Given the description of an element on the screen output the (x, y) to click on. 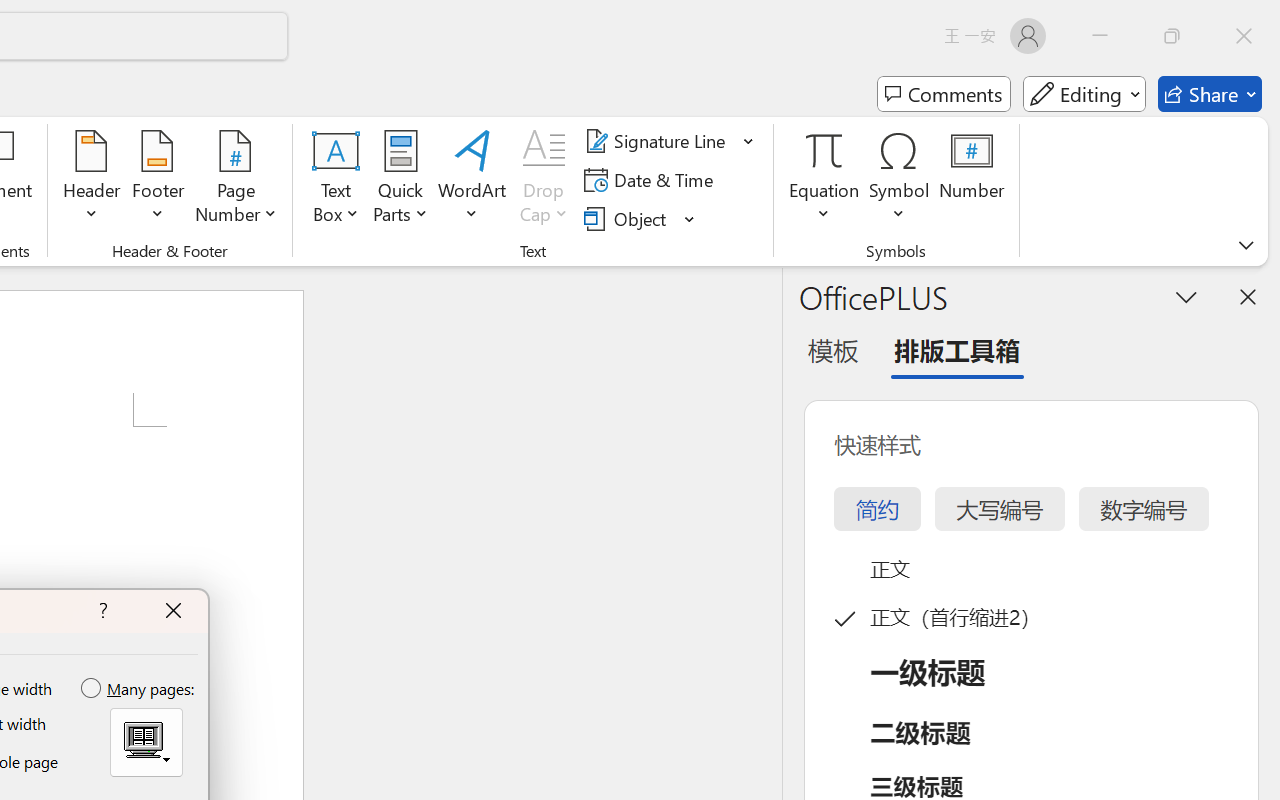
Equation (823, 150)
MSO Generic Control Container (146, 742)
Symbol (899, 179)
Object... (628, 218)
WordArt (472, 179)
Drop Cap (543, 179)
Header (92, 179)
Signature Line (658, 141)
